Given the description of an element on the screen output the (x, y) to click on. 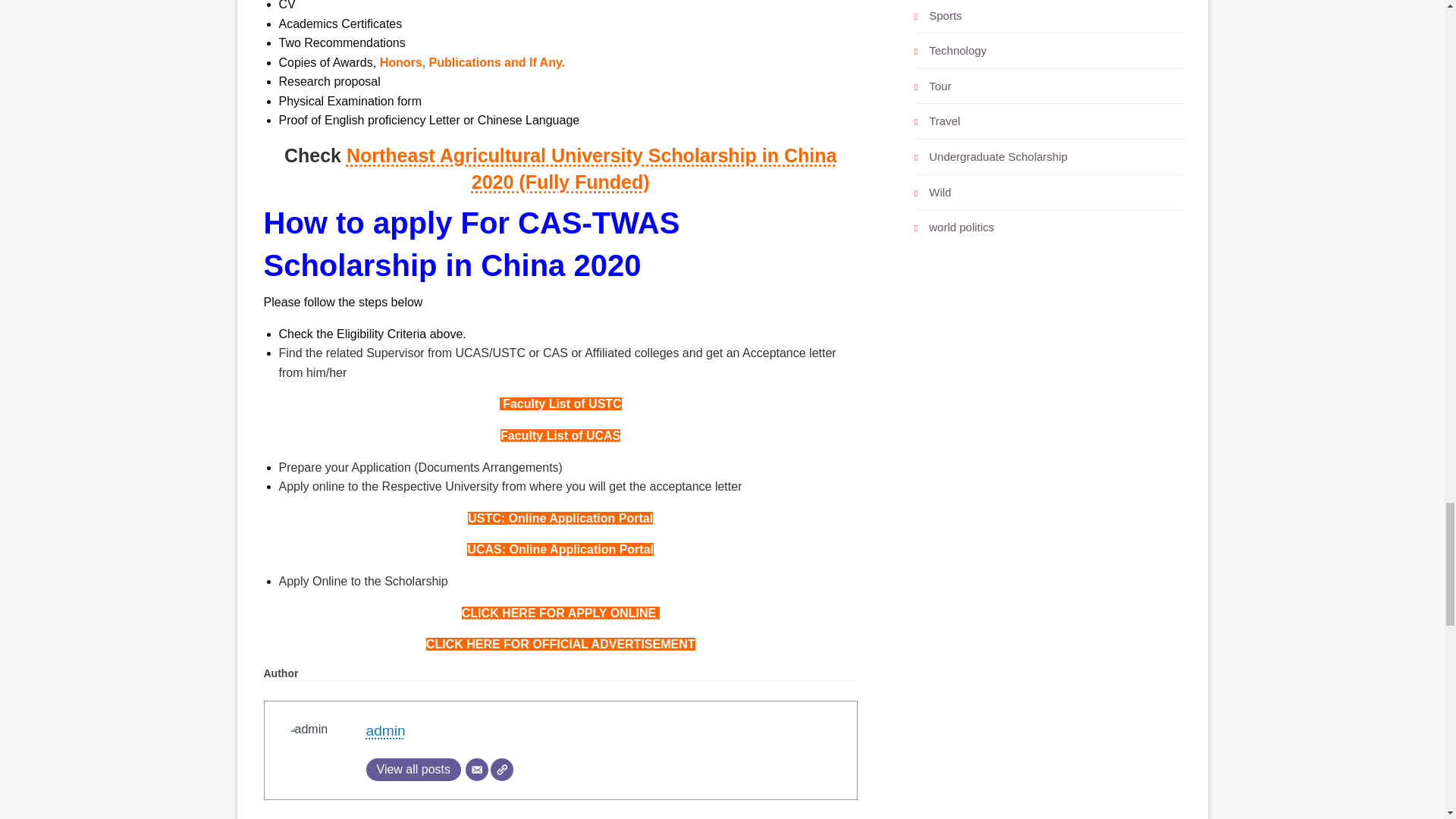
View all posts (413, 769)
admin (384, 730)
